Given the description of an element on the screen output the (x, y) to click on. 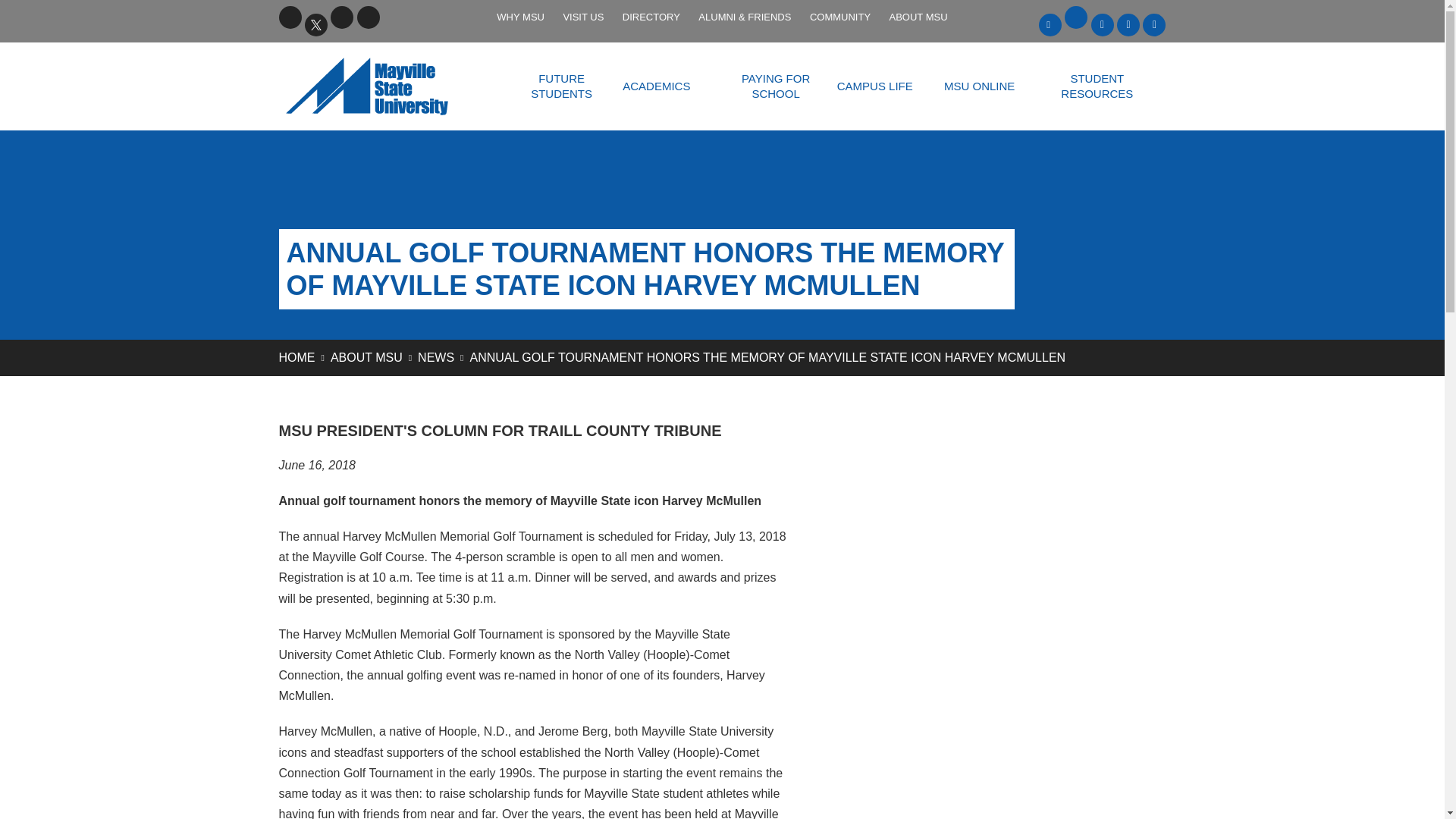
ACADEMICS (655, 86)
News (435, 357)
ABOUT MSU (918, 16)
Starfish (1154, 24)
BlackBoard (1050, 24)
Mayville State University :: Mayville, ND (386, 86)
VISIT US (582, 16)
Facebook (290, 16)
Search (394, 16)
Campus Connection (1128, 24)
Instagram (368, 16)
WHY MSU (520, 16)
Sharepoint (1101, 24)
COMMUNITY (839, 16)
